Given the description of an element on the screen output the (x, y) to click on. 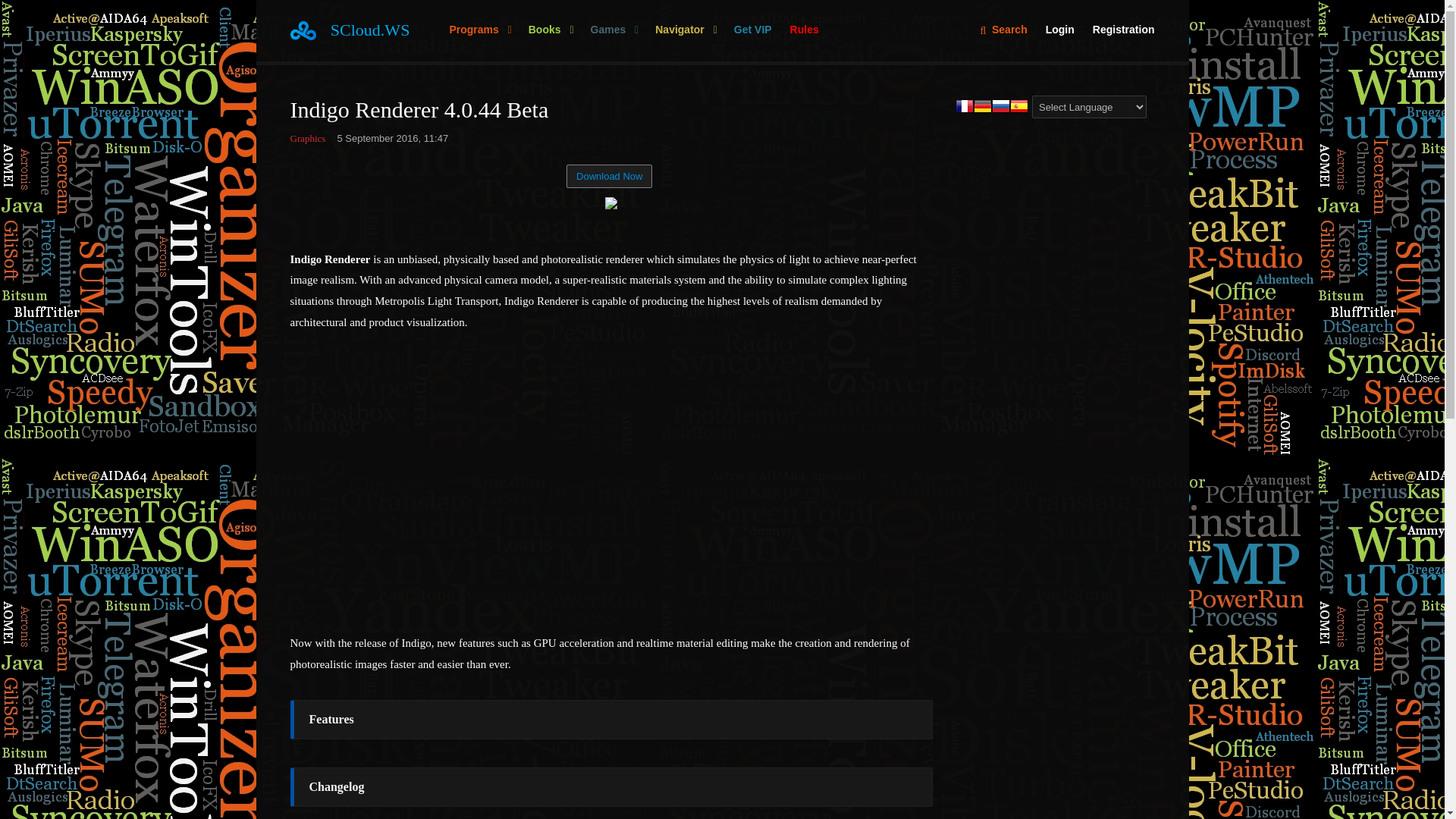
SCloud.WS (370, 30)
Programs (478, 30)
Spanish (1018, 107)
Graphics (306, 137)
French (964, 107)
Registration (1118, 30)
5 September 2016, 11:47 (392, 137)
Login (1059, 30)
Books (549, 30)
Russian (1000, 107)
Rules (804, 30)
German (982, 107)
Get VIP (752, 30)
 Search (1003, 30)
Games (613, 30)
